Given the description of an element on the screen output the (x, y) to click on. 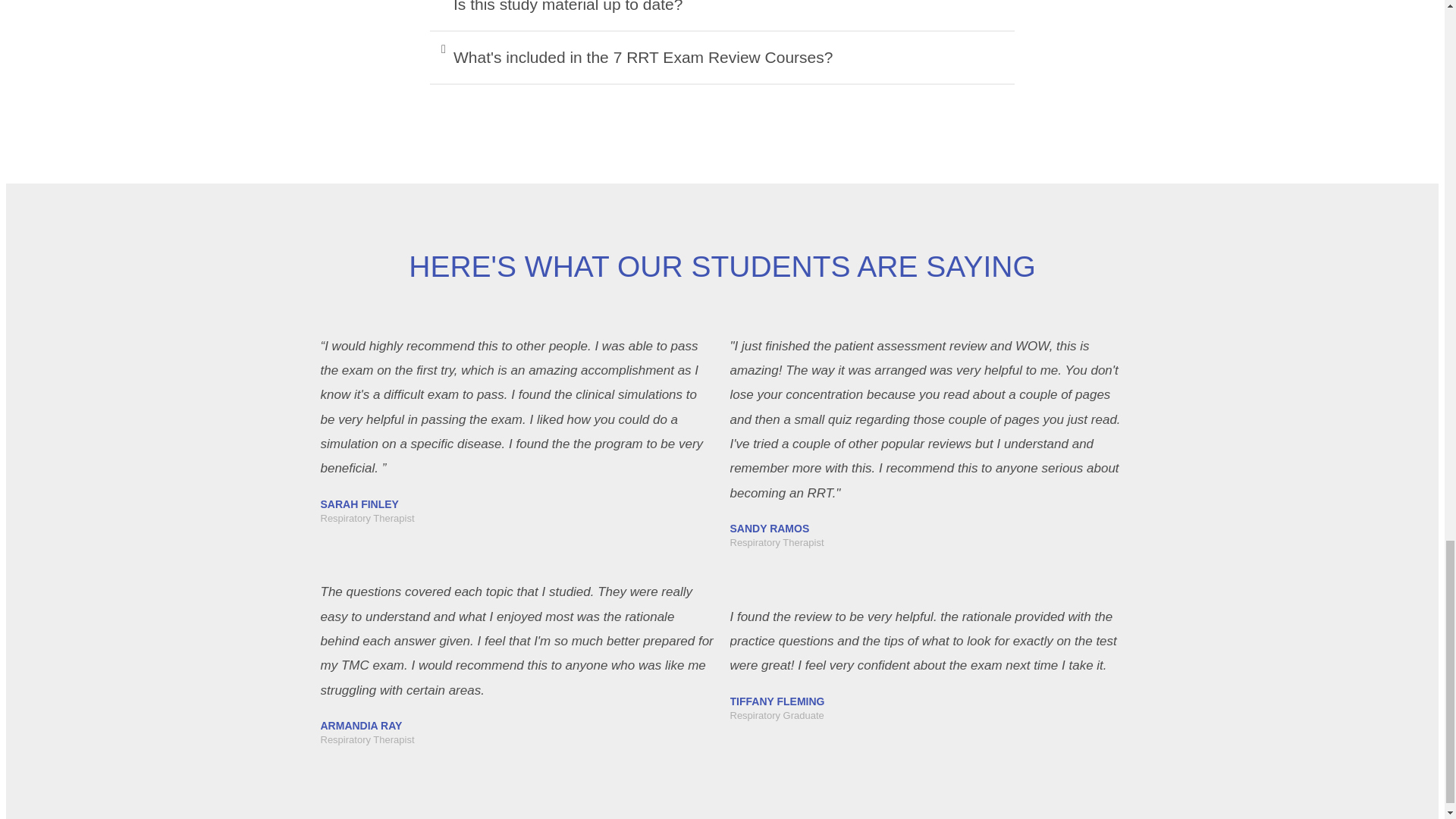
Is this study material up to date? (567, 6)
What's included in the 7 RRT Exam Review Courses? (642, 57)
